Given the description of an element on the screen output the (x, y) to click on. 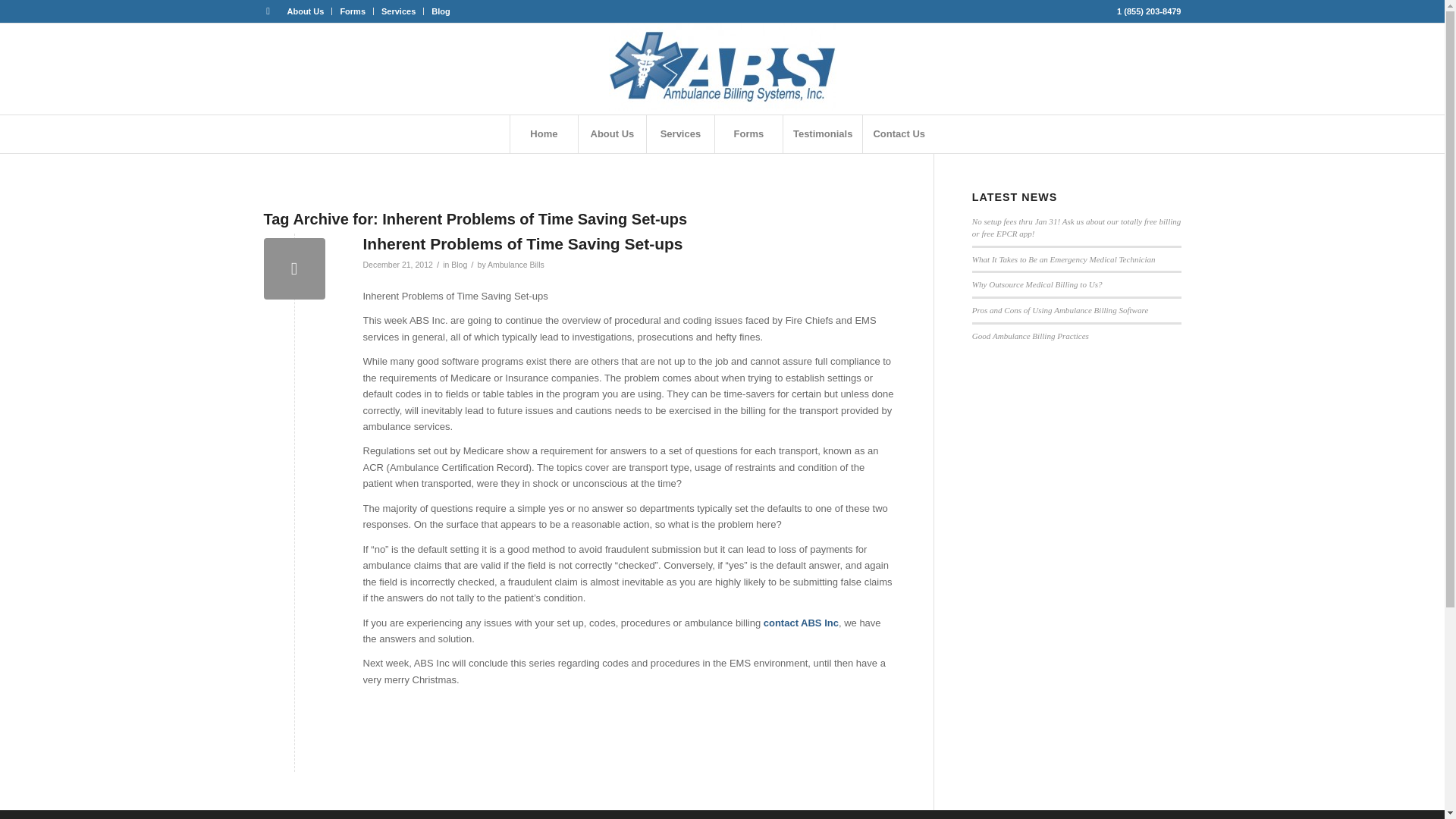
Forms (352, 11)
Blog (439, 11)
Forms (748, 134)
Pros and Cons of Using Ambulance Billing Software (1060, 309)
Permanent Link: Inherent Problems of Time Saving Set-ups (522, 243)
Home (543, 134)
Good Ambulance Billing Practices (1030, 335)
Why Outsource Medical Billing to Us? (1037, 284)
Blog (459, 264)
Contact Us (897, 134)
Posts by Ambulance Bills (515, 264)
contact ABS Inc (800, 622)
Twitter (267, 11)
Services (680, 134)
About Us (612, 134)
